Given the description of an element on the screen output the (x, y) to click on. 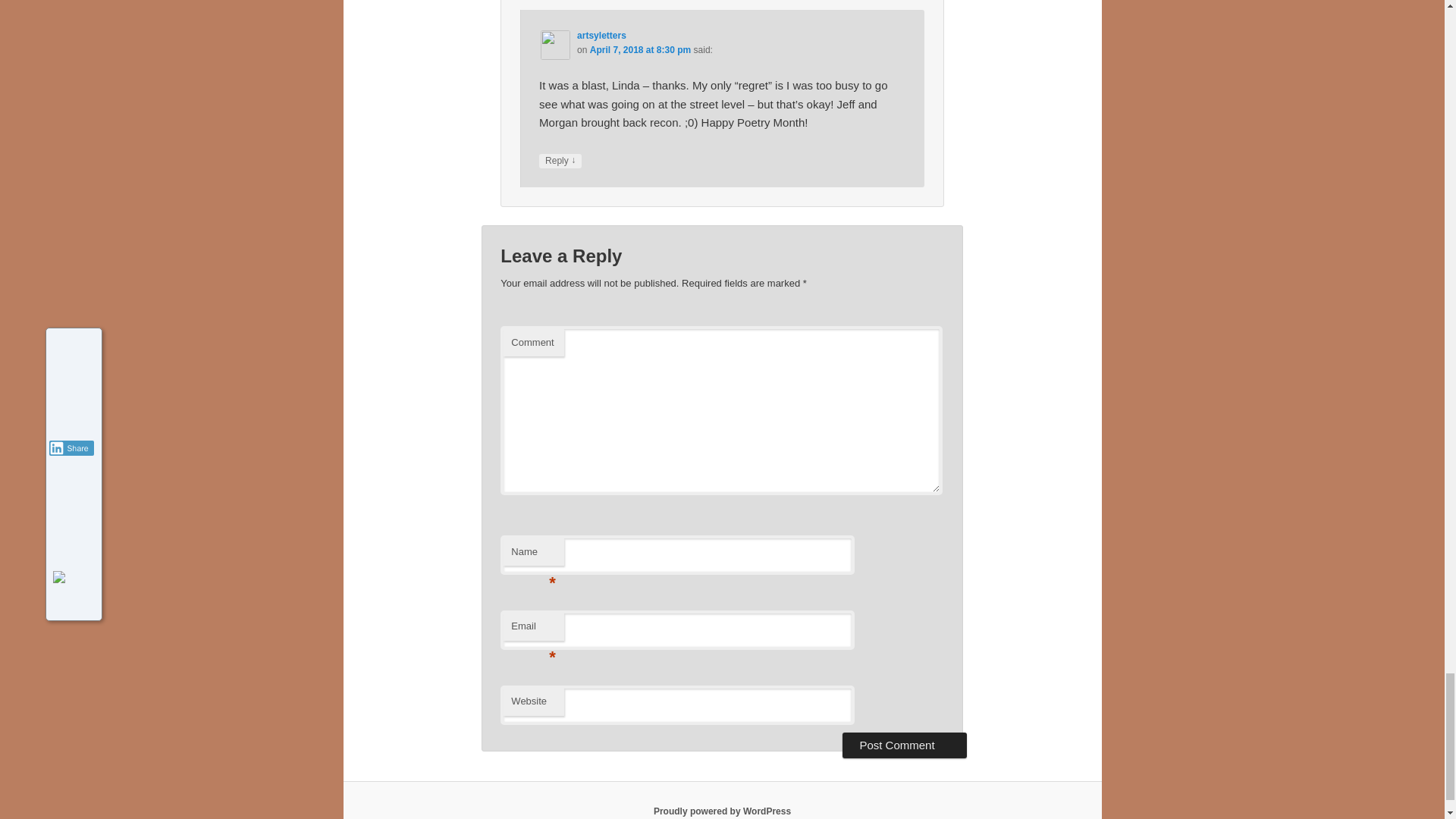
April 7, 2018 at 8:30 pm (639, 50)
Post Comment (904, 745)
Proudly powered by WordPress (721, 810)
artsyletters (601, 35)
Semantic Personal Publishing Platform (721, 810)
Post Comment (904, 745)
